Given the description of an element on the screen output the (x, y) to click on. 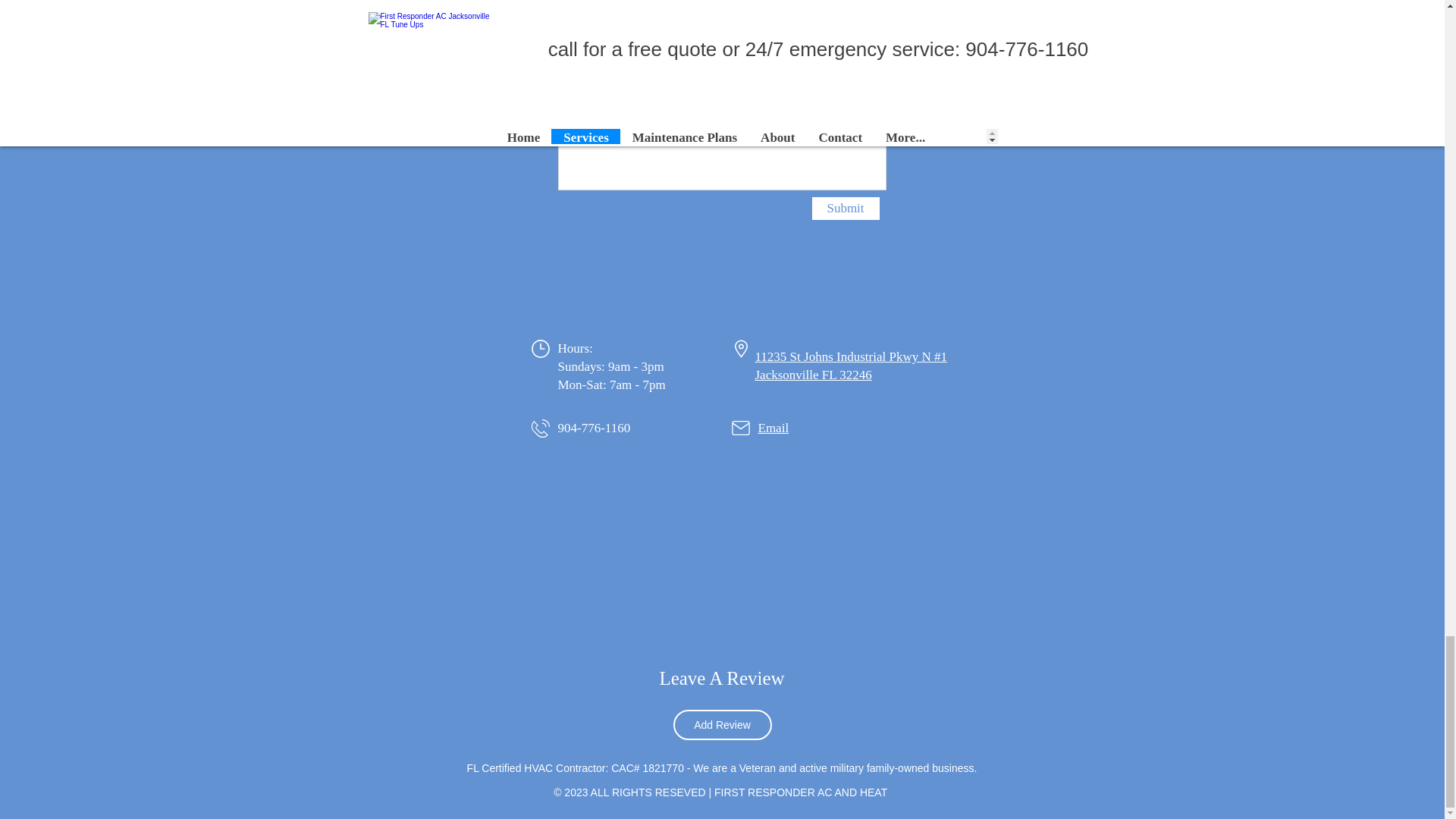
Jacksonville FL 32246 (813, 374)
Submit (844, 208)
Email (773, 427)
Add Review (721, 725)
